Given the description of an element on the screen output the (x, y) to click on. 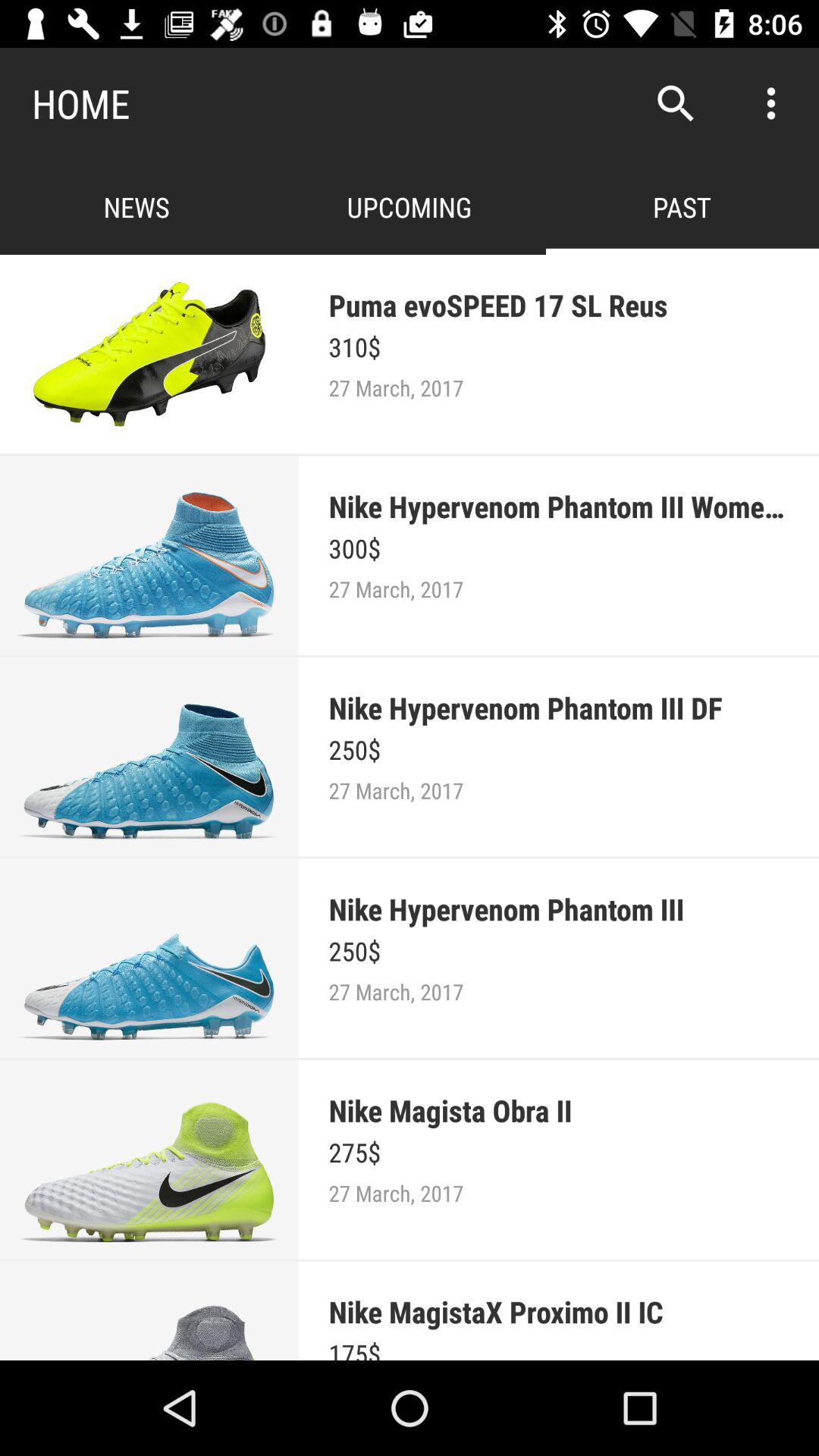
turn on icon next to the home app (675, 103)
